Given the description of an element on the screen output the (x, y) to click on. 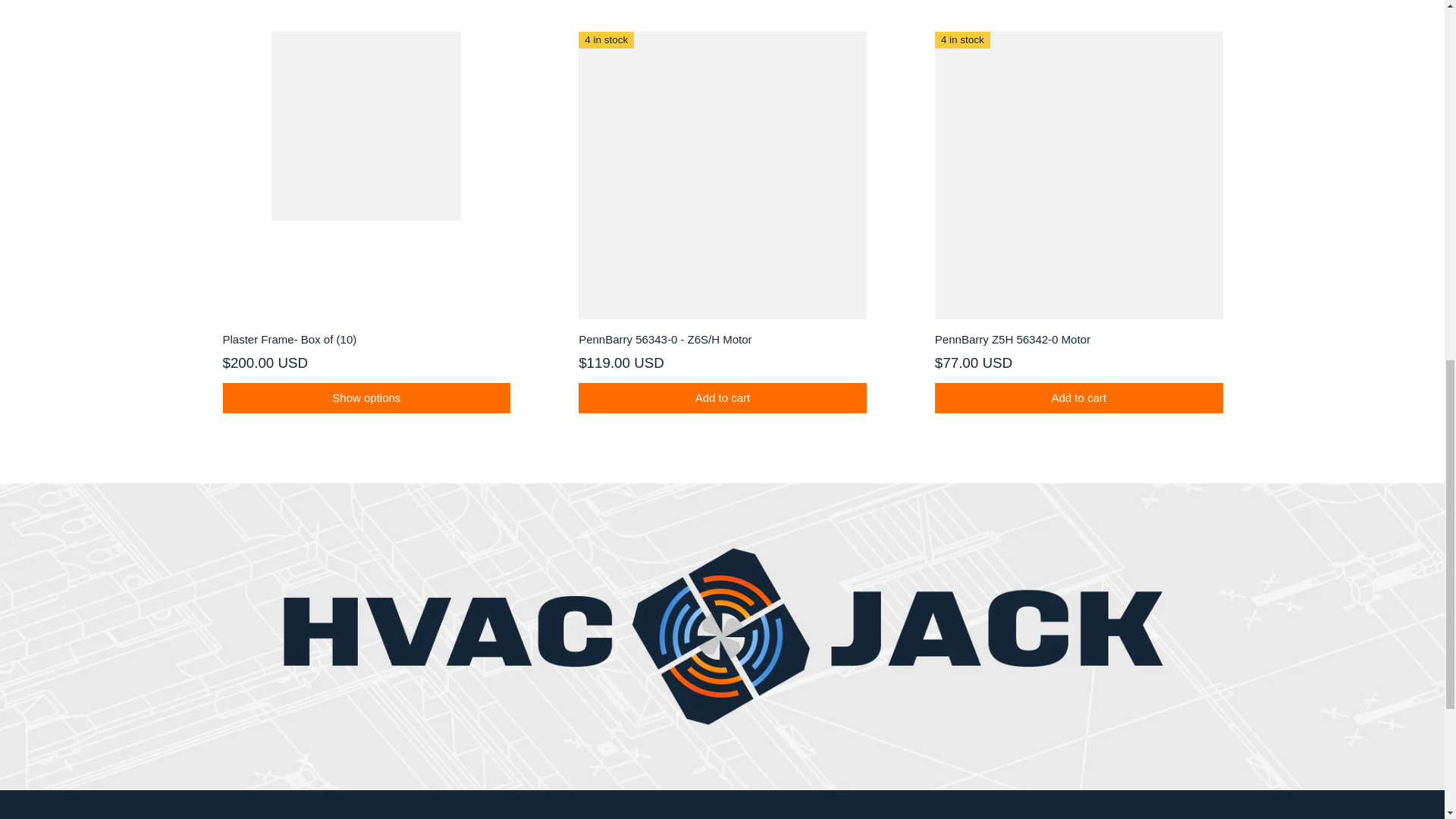
Add to cart (1078, 398)
Add to cart (722, 398)
PennBarry Z5H 56342-0 Motor (1078, 339)
Show options (366, 398)
